Given the description of an element on the screen output the (x, y) to click on. 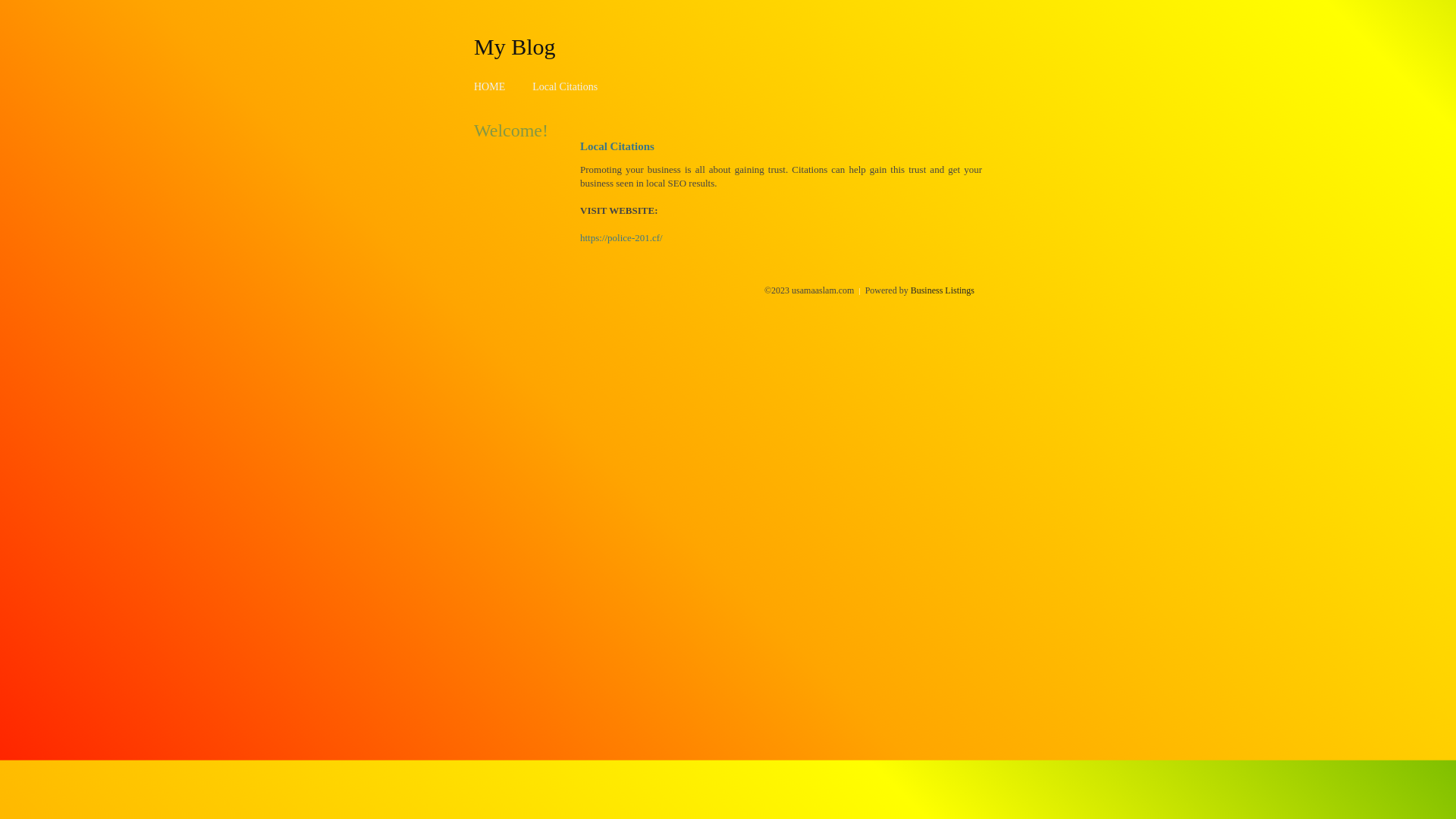
https://police-201.cf/ Element type: text (621, 237)
HOME Element type: text (489, 86)
Business Listings Element type: text (942, 290)
My Blog Element type: text (514, 46)
Local Citations Element type: text (564, 86)
